Given the description of an element on the screen output the (x, y) to click on. 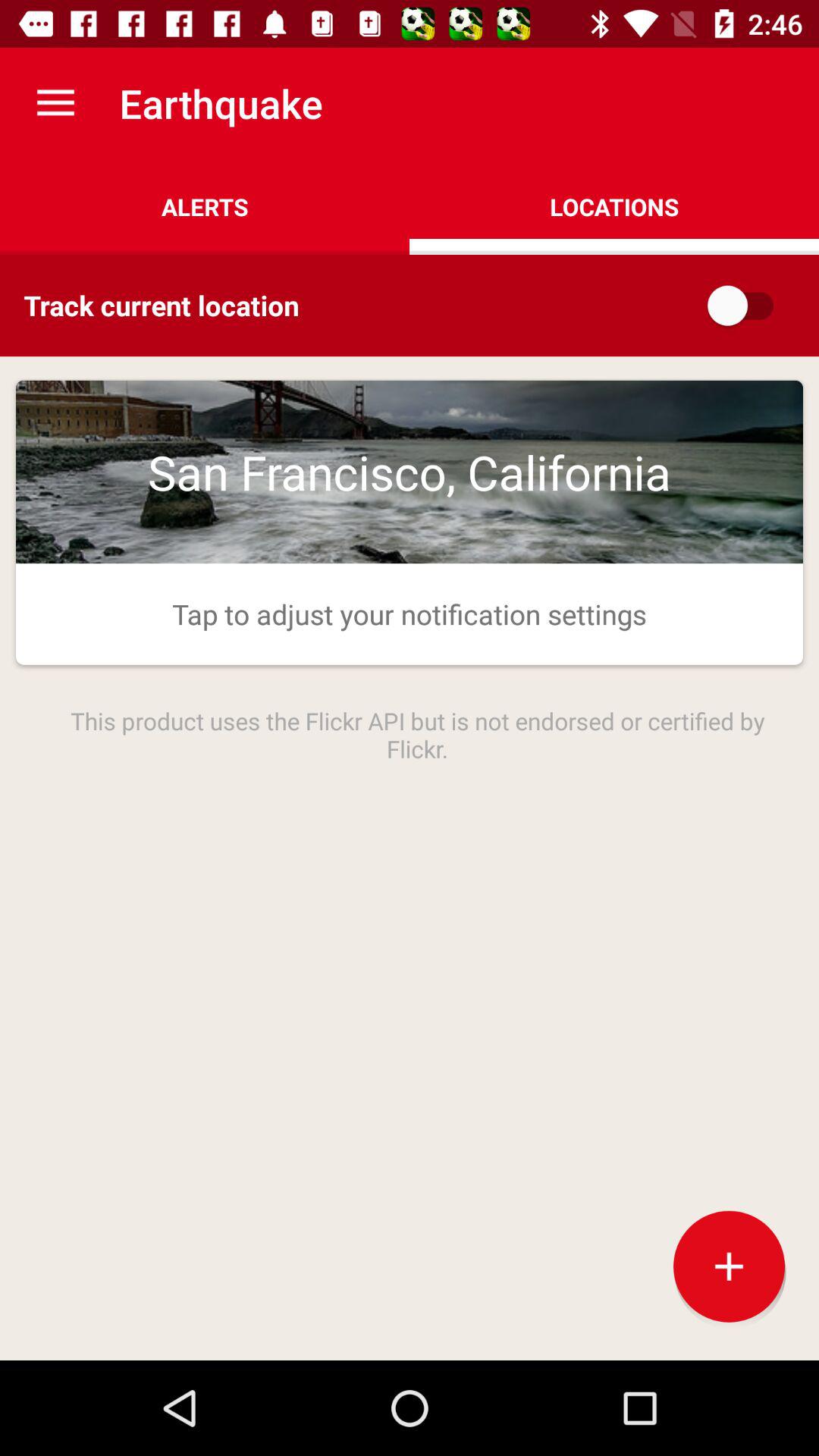
select the app next to the earthquake item (55, 103)
